Given the description of an element on the screen output the (x, y) to click on. 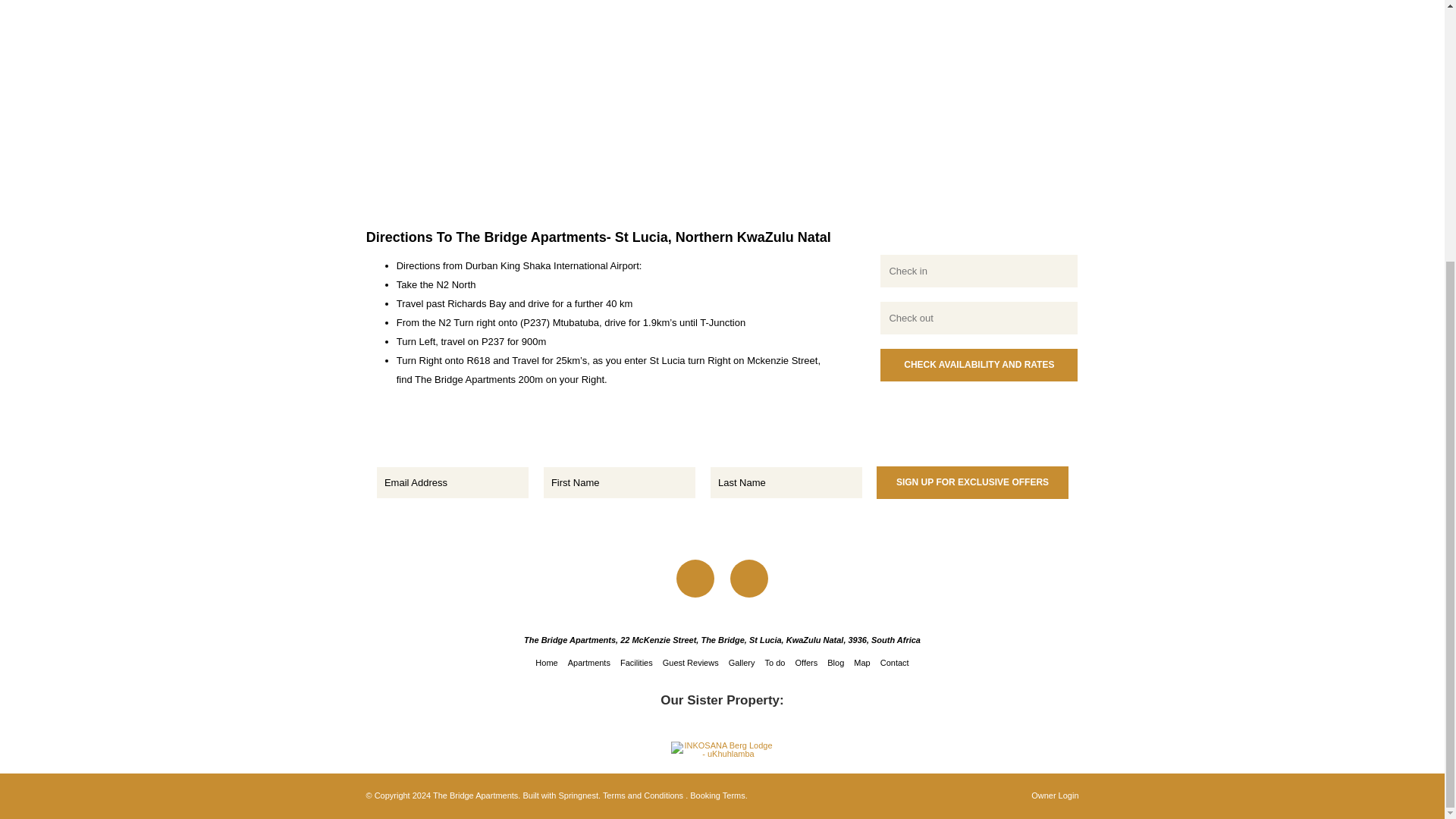
Check Availability and Rates (978, 364)
Sign up for exclusive offers (972, 482)
